Given the description of an element on the screen output the (x, y) to click on. 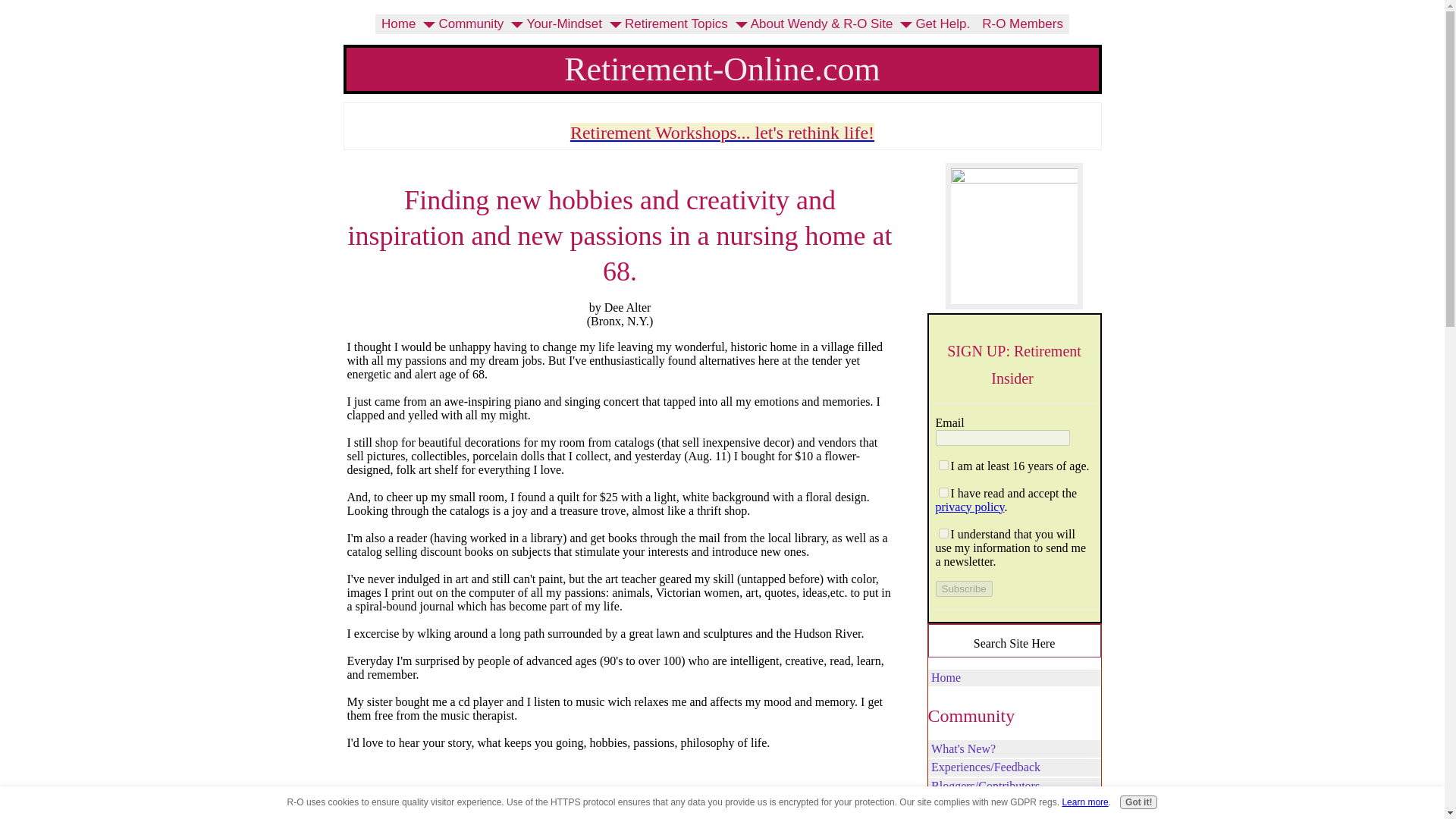
on (944, 465)
Home (398, 24)
Retirement-Online.com (722, 68)
on (944, 492)
Go to Great Retirement Advice Here from Retirees  (1013, 178)
on (944, 533)
